Given the description of an element on the screen output the (x, y) to click on. 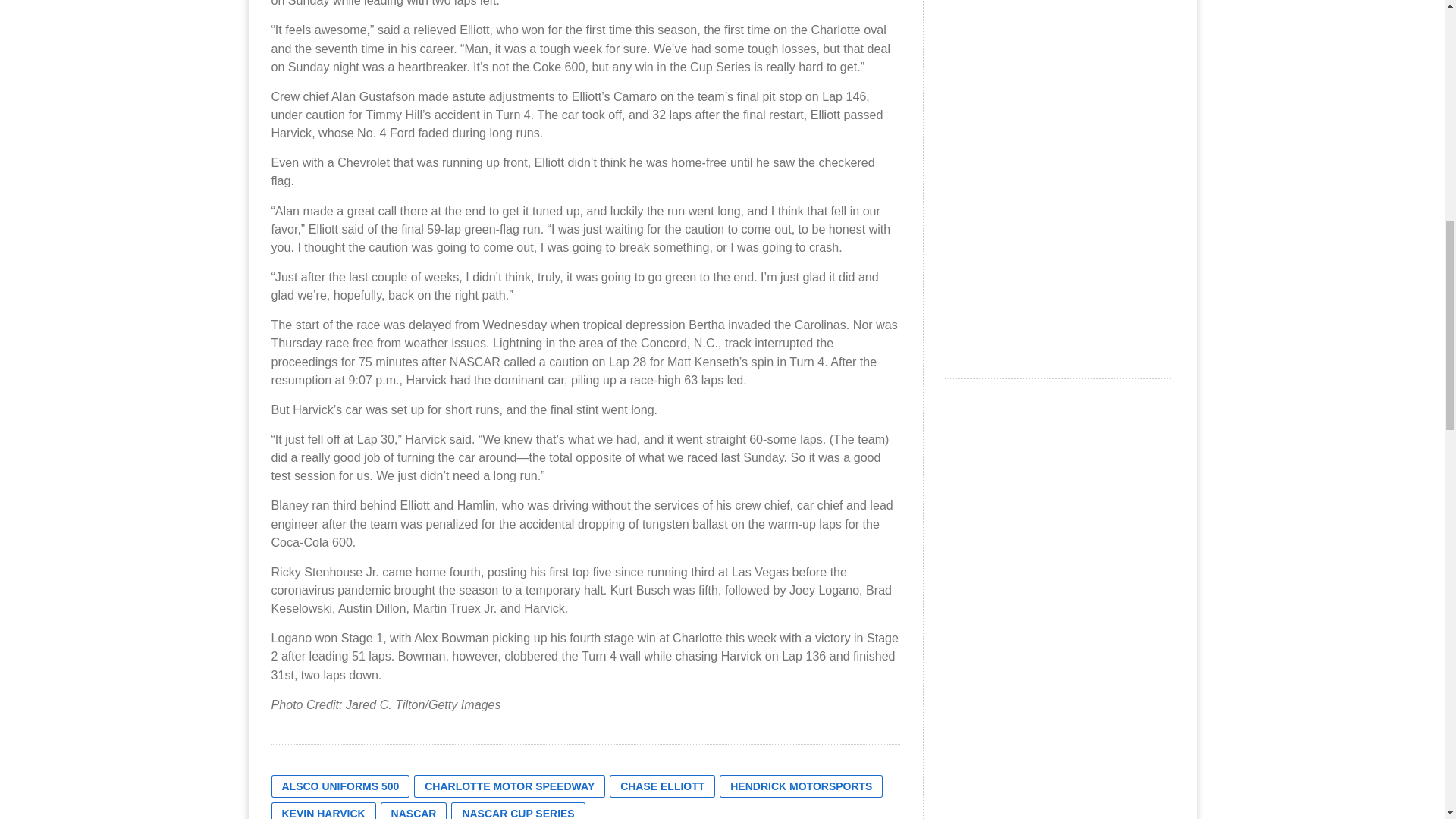
ALSCO UNIFORMS 500 (340, 785)
CHARLOTTE MOTOR SPEEDWAY (509, 785)
